Given the description of an element on the screen output the (x, y) to click on. 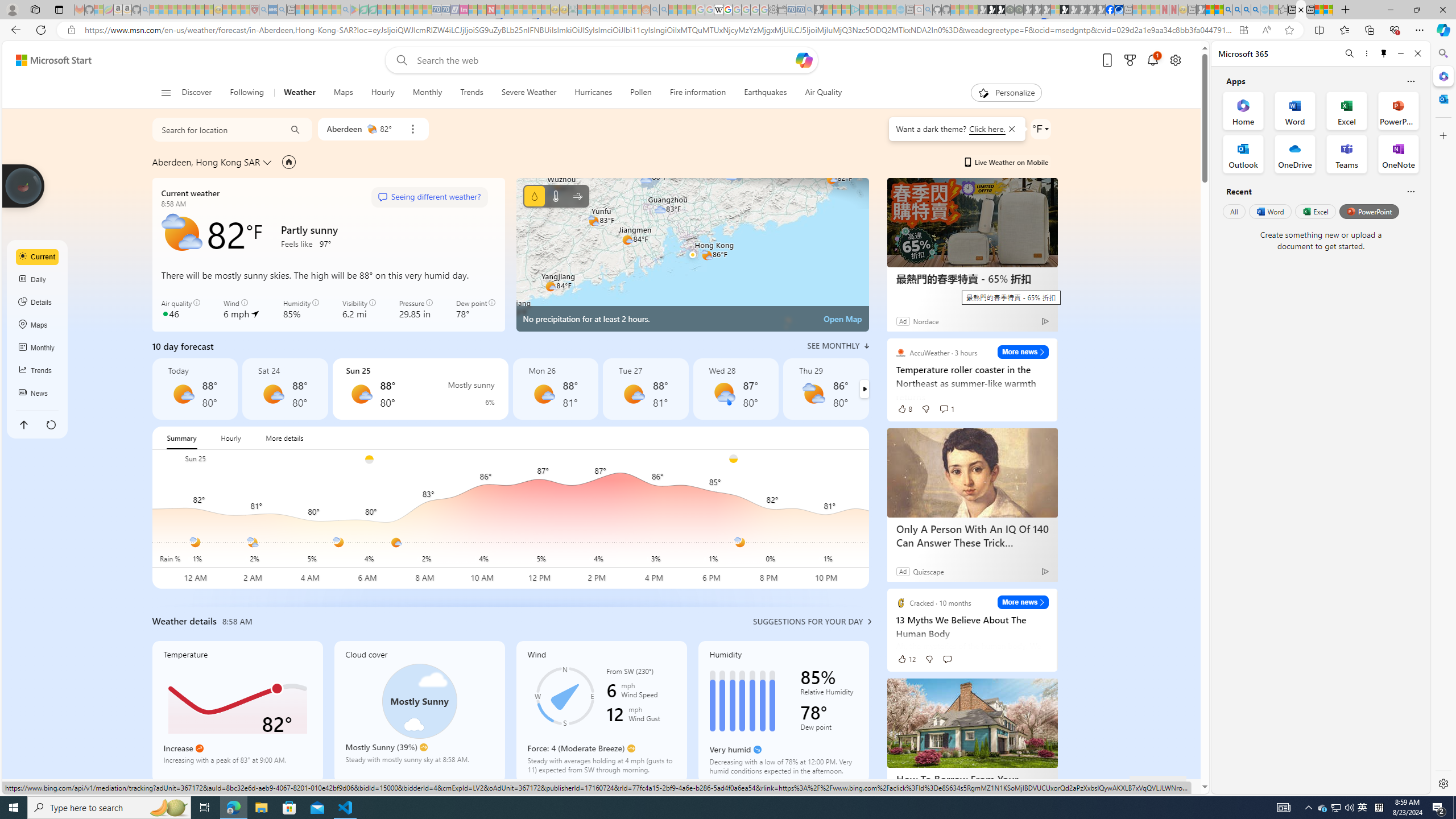
Hourly (382, 92)
Google Chrome Internet Browser Download - Search Images (1255, 9)
Weather settings Want a dark theme?Click here. (1040, 128)
Play Zoo Boom in your browser | Games from Microsoft Start (991, 9)
static map image of vector map (692, 254)
More details (284, 437)
Wind (577, 195)
